Given the description of an element on the screen output the (x, y) to click on. 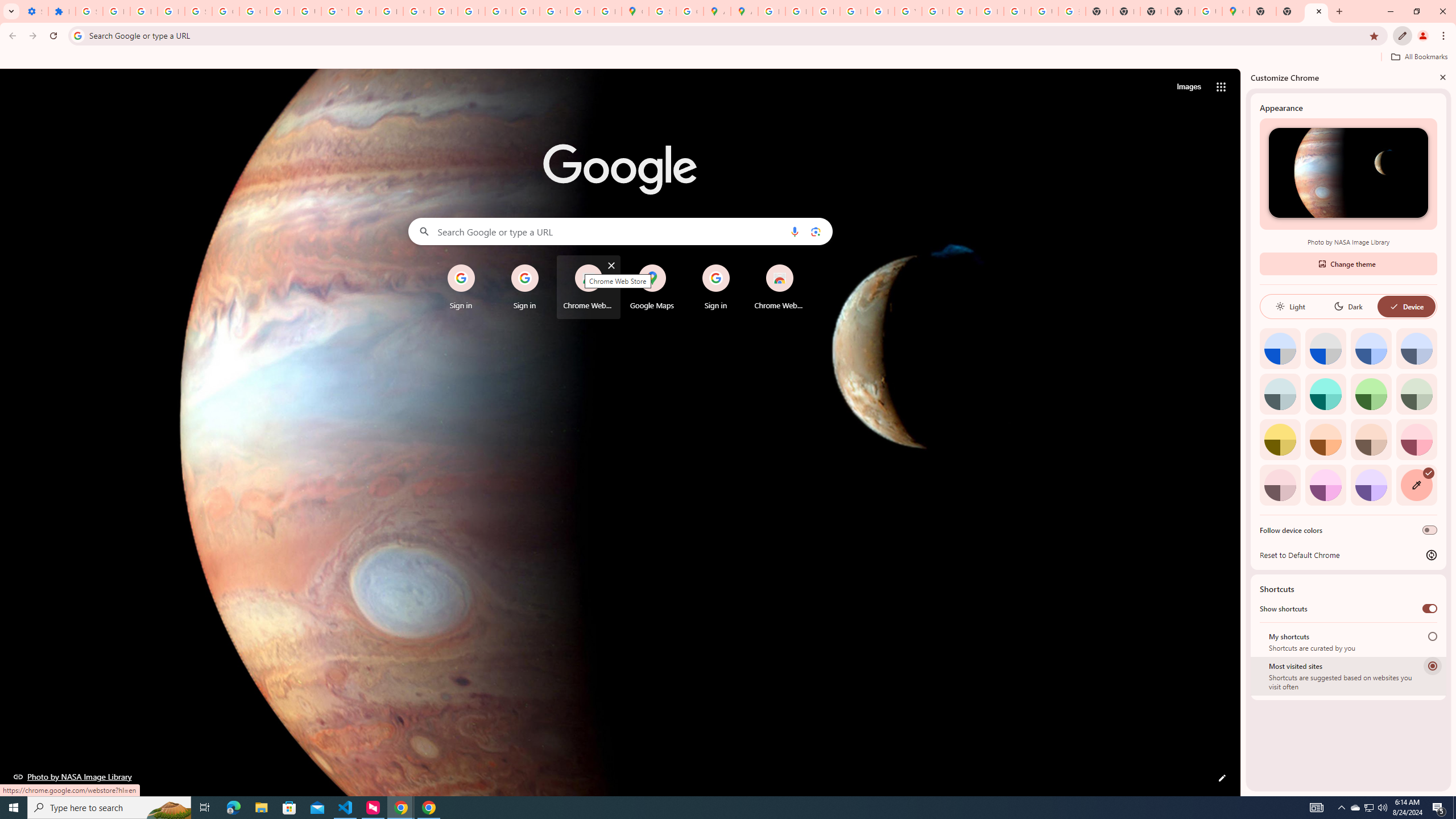
Sign in - Google Accounts (197, 11)
Create your Google Account (690, 11)
Most visited sites (1432, 665)
YouTube (334, 11)
Google Maps (634, 11)
Privacy Help Center - Policies Help (444, 11)
New Tab (1180, 11)
Chrome Web Store (778, 287)
Privacy Help Center - Policies Help (826, 11)
Grey default color (1325, 348)
Use Google Maps in Space - Google Maps Help (1208, 11)
Orange (1325, 439)
Settings - On startup (34, 11)
